Given the description of an element on the screen output the (x, y) to click on. 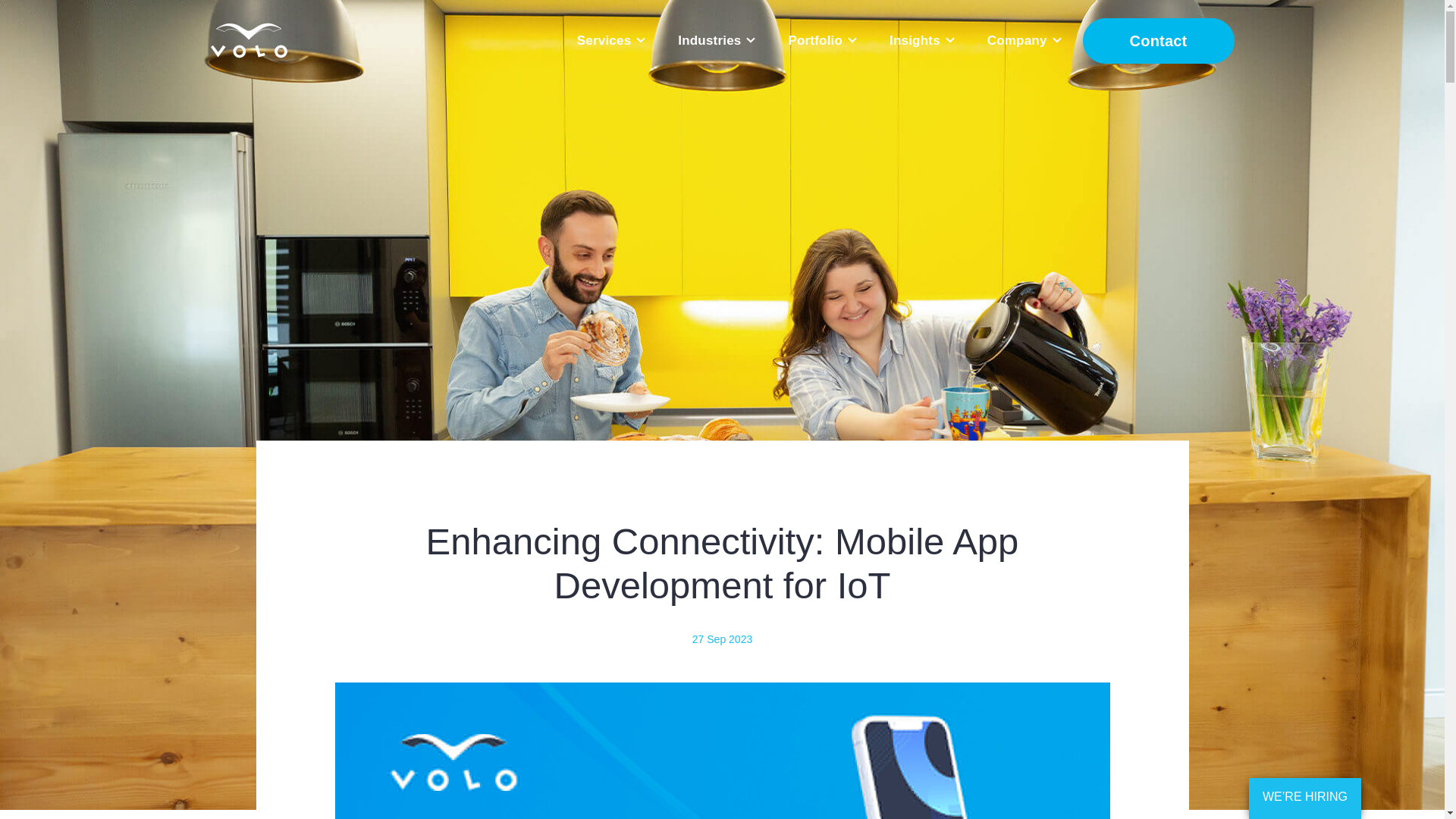
Industries (715, 40)
IoT Mobile App Development (721, 750)
Insights (920, 40)
Services (610, 40)
Portfolio (821, 40)
